Given the description of an element on the screen output the (x, y) to click on. 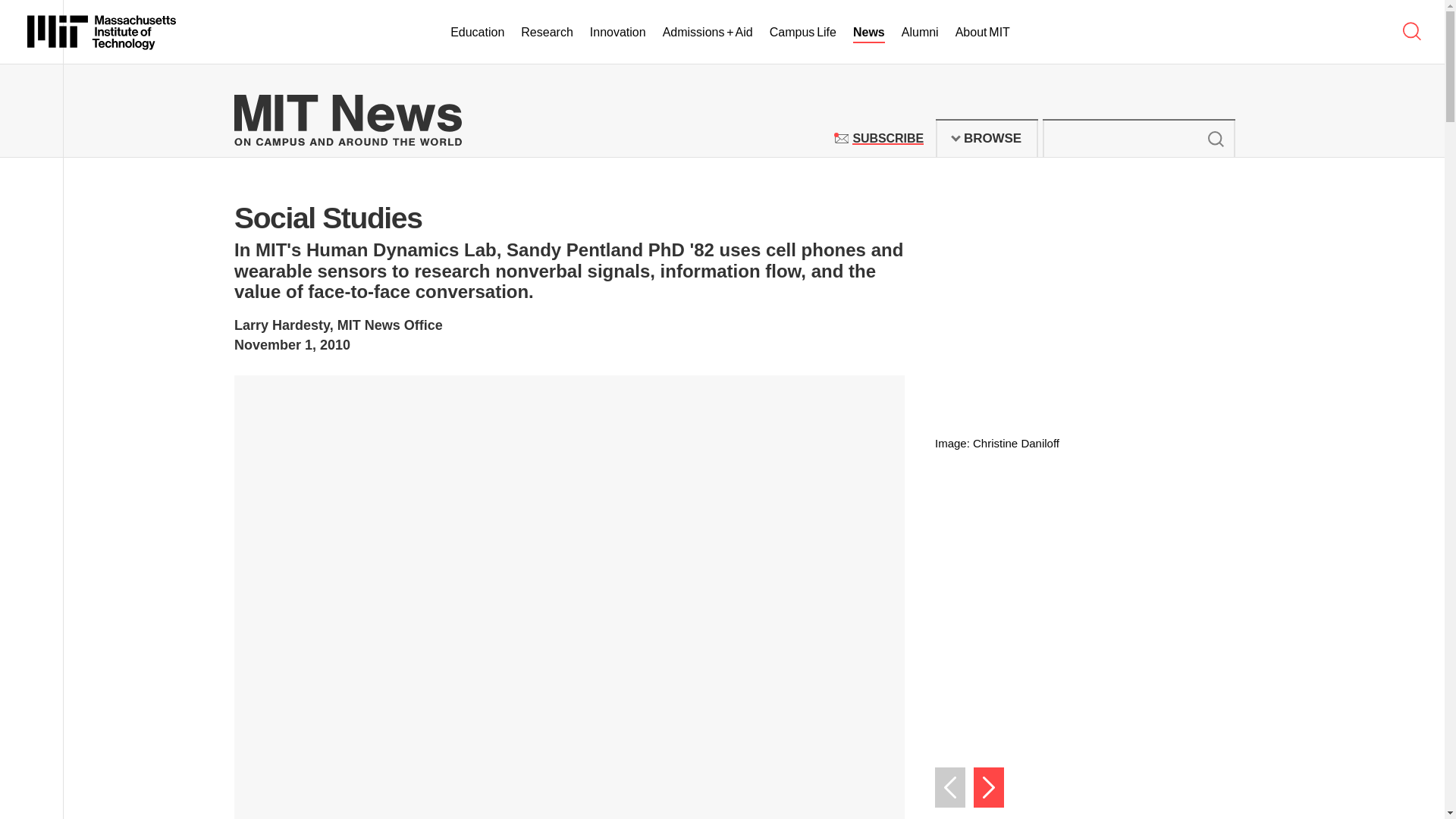
Submit (1214, 138)
Massachusetts Institute of Technology (887, 137)
BROWSE (101, 32)
Campus Life (987, 138)
